Given the description of an element on the screen output the (x, y) to click on. 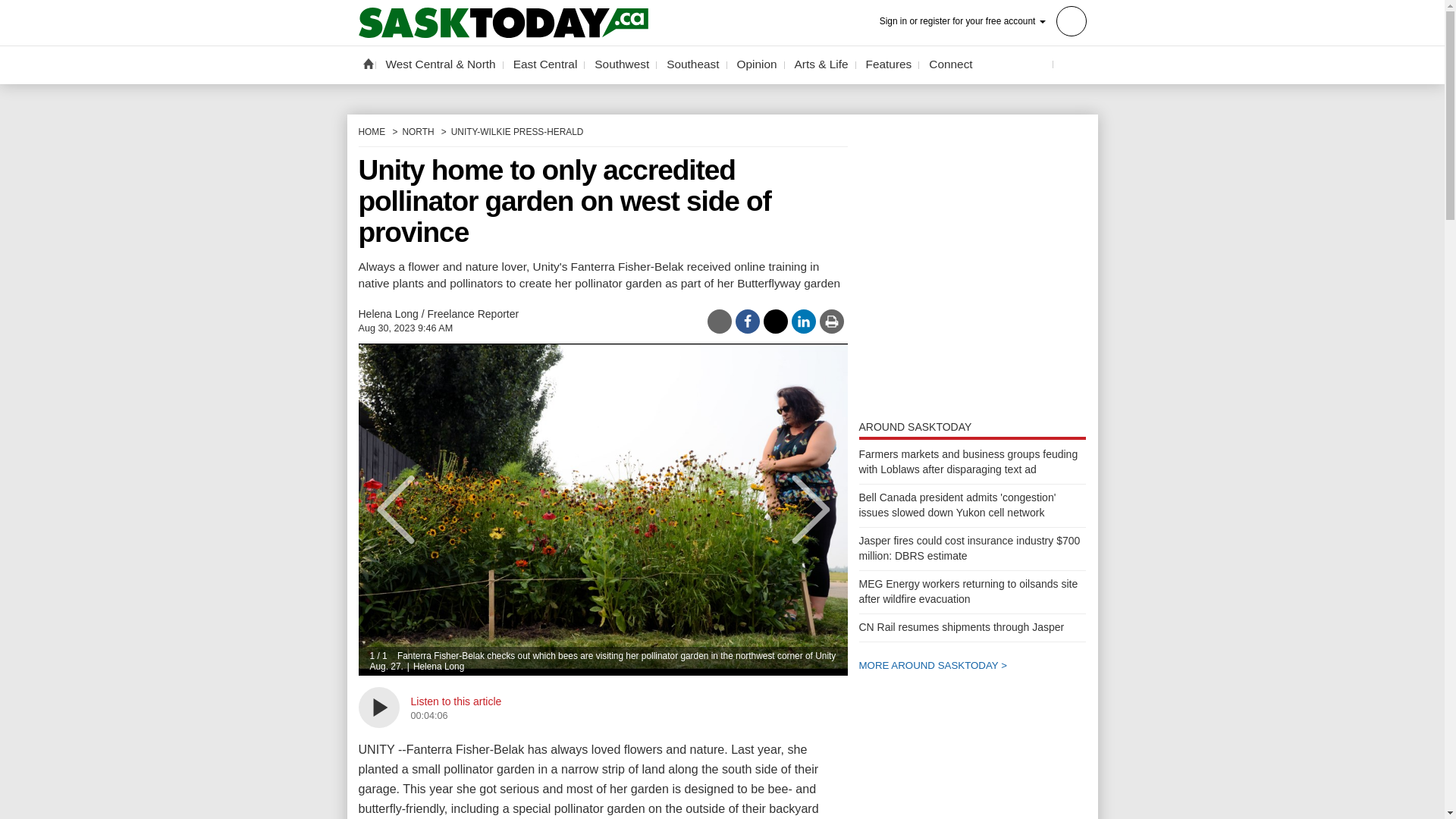
Home (367, 63)
East Central (545, 64)
Previous (385, 509)
Southwest (622, 64)
Next (819, 509)
Sign in or register for your free account (982, 20)
